Given the description of an element on the screen output the (x, y) to click on. 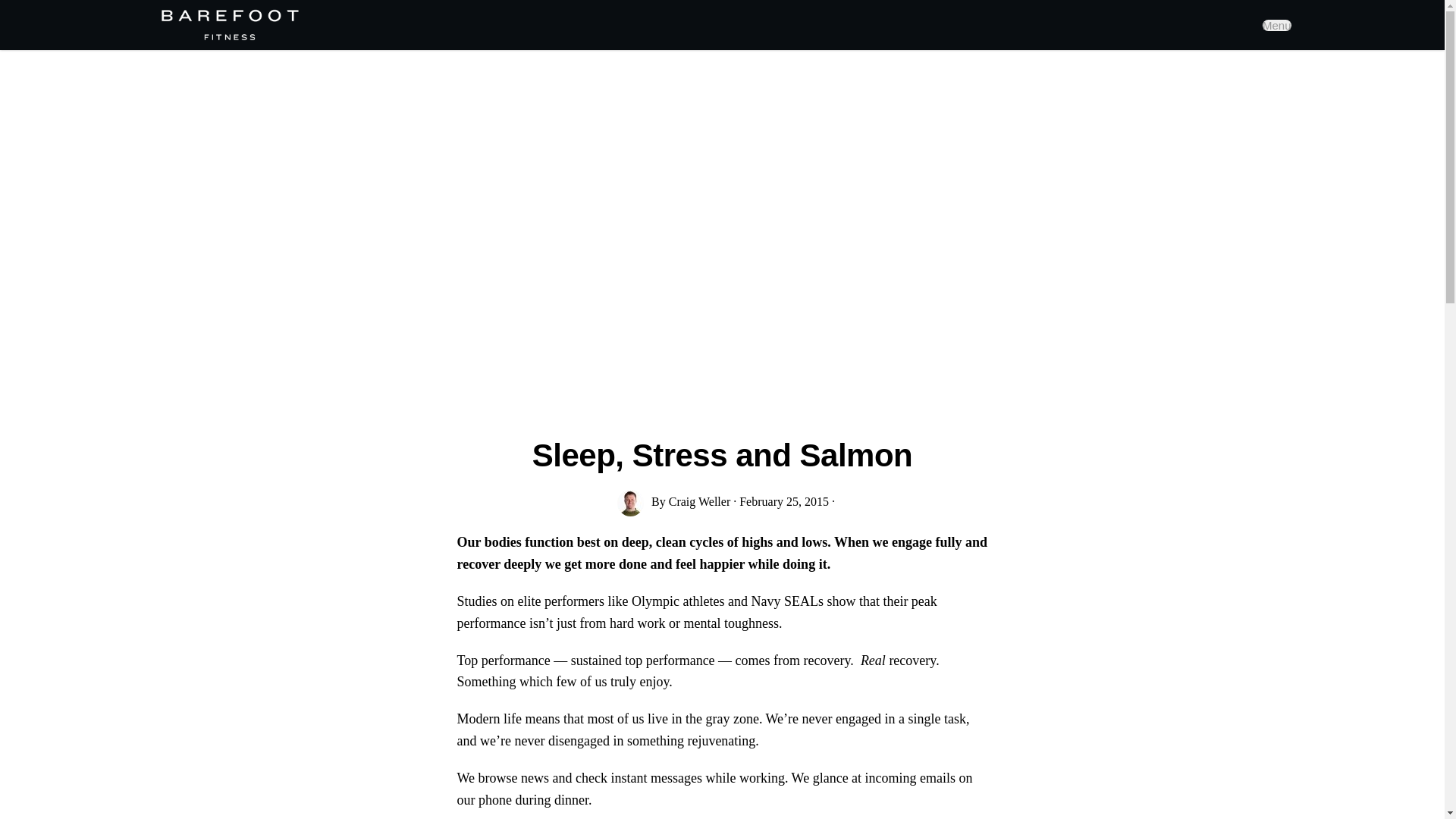
Show Search (1276, 25)
